Given the description of an element on the screen output the (x, y) to click on. 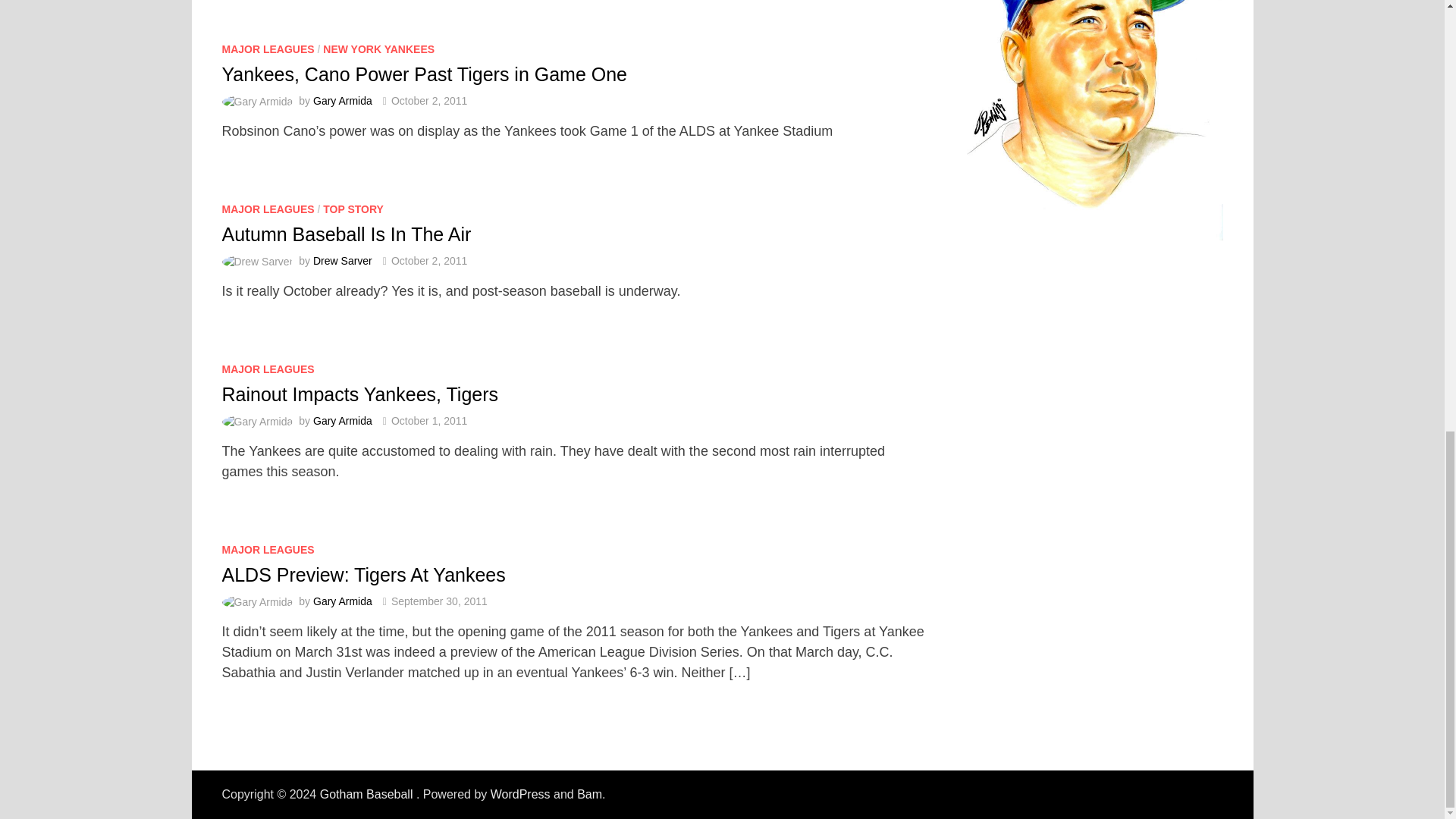
MAJOR LEAGUES (267, 209)
TOP STORY (353, 209)
Yankees, Cano Power Past Tigers in Game One (424, 74)
NEW YORK YANKEES (378, 49)
MAJOR LEAGUES (267, 49)
The Art of John Pennisi (1090, 120)
Gary Armida (342, 101)
October 2, 2011 (429, 101)
Gotham Baseball  (368, 793)
